Given the description of an element on the screen output the (x, y) to click on. 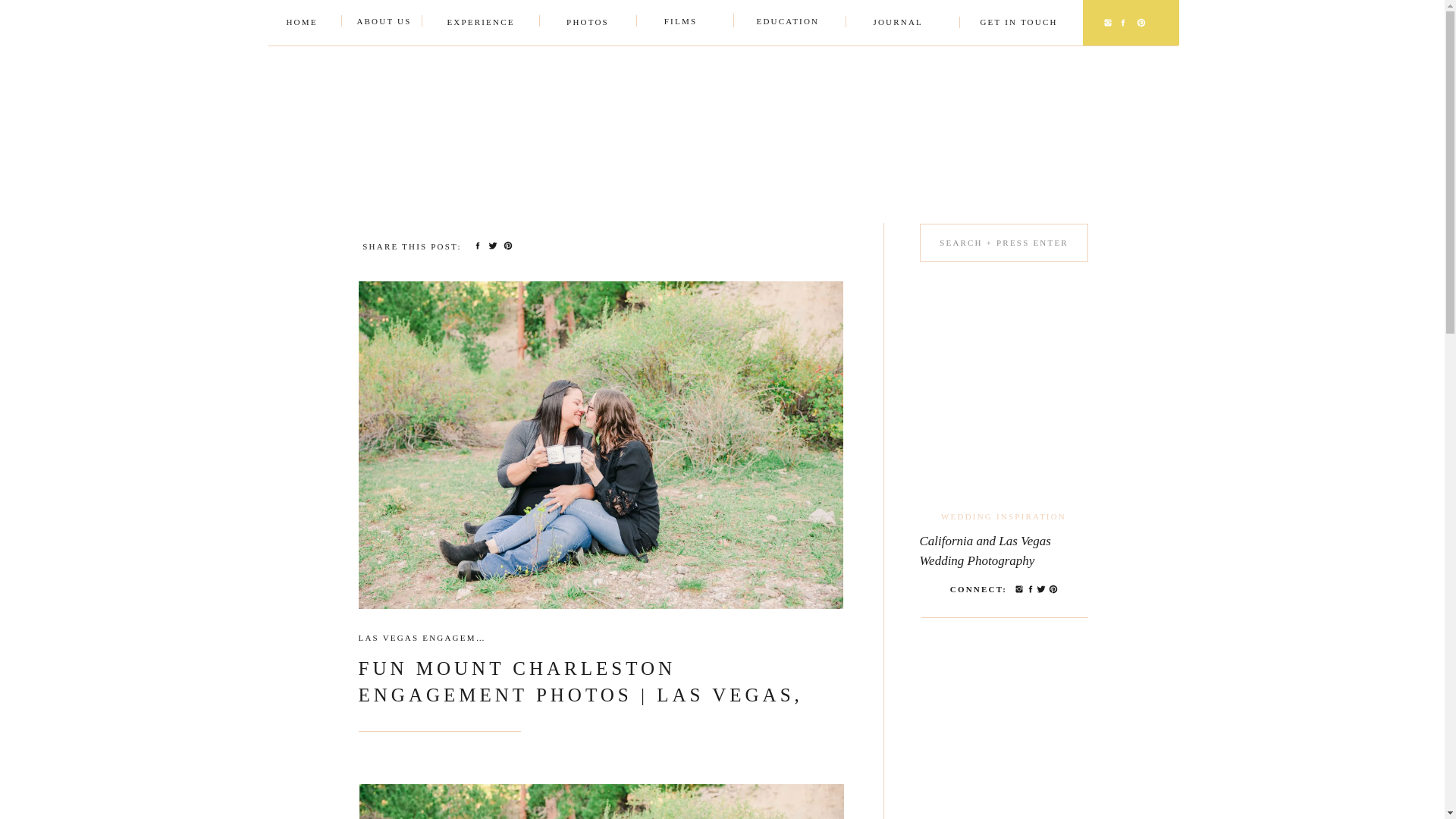
LAS VEGAS ENGAGEMENT PHOTOS (450, 637)
PHOTOS (587, 22)
JOURNAL (897, 22)
ABOUT US (383, 22)
FILMS (680, 22)
GET IN TOUCH (1017, 22)
EDUCATION (781, 22)
EXPERIENCE (480, 22)
HOME (301, 22)
